Given the description of an element on the screen output the (x, y) to click on. 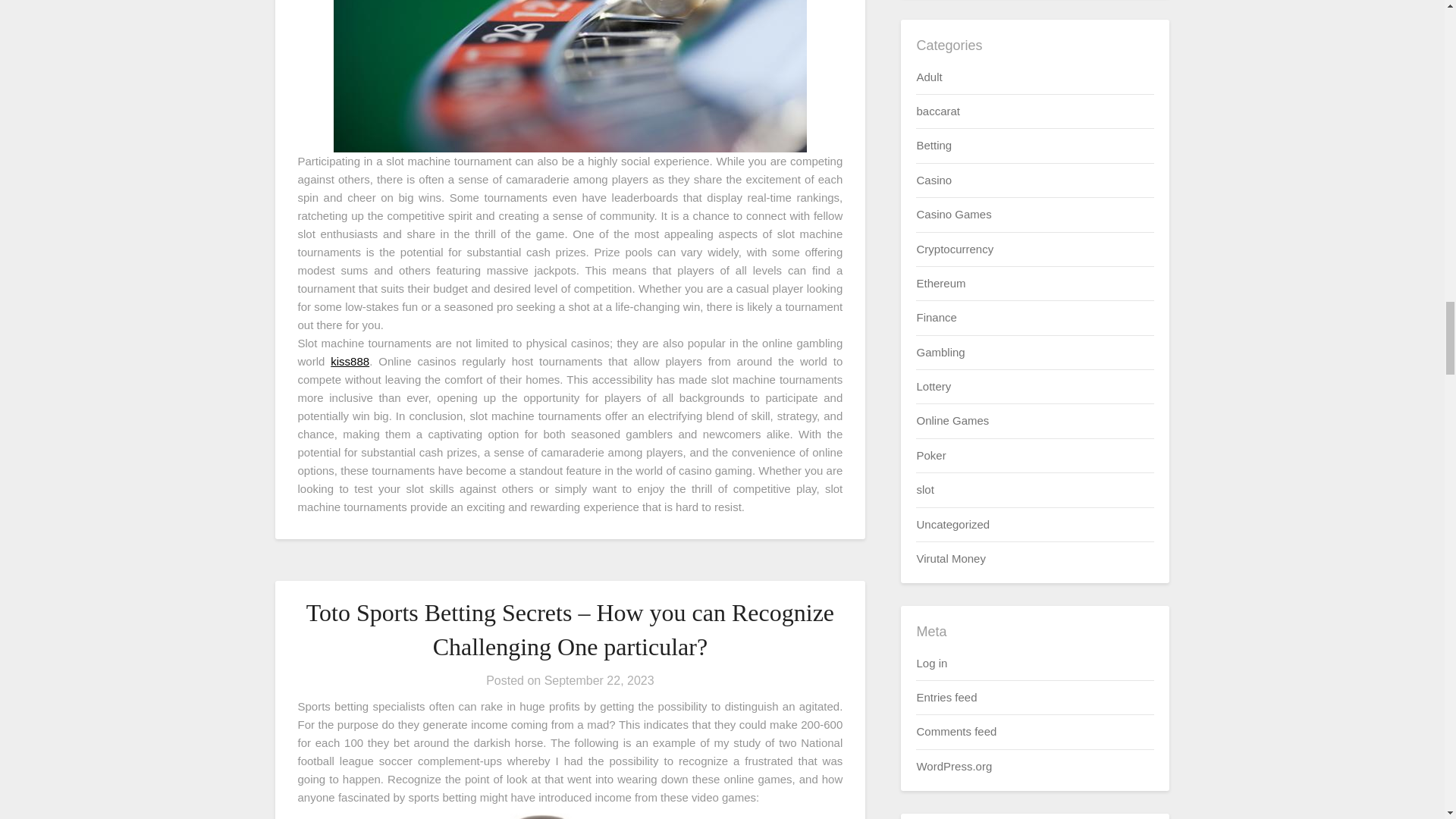
kiss888 (349, 360)
September 22, 2023 (598, 680)
